Given the description of an element on the screen output the (x, y) to click on. 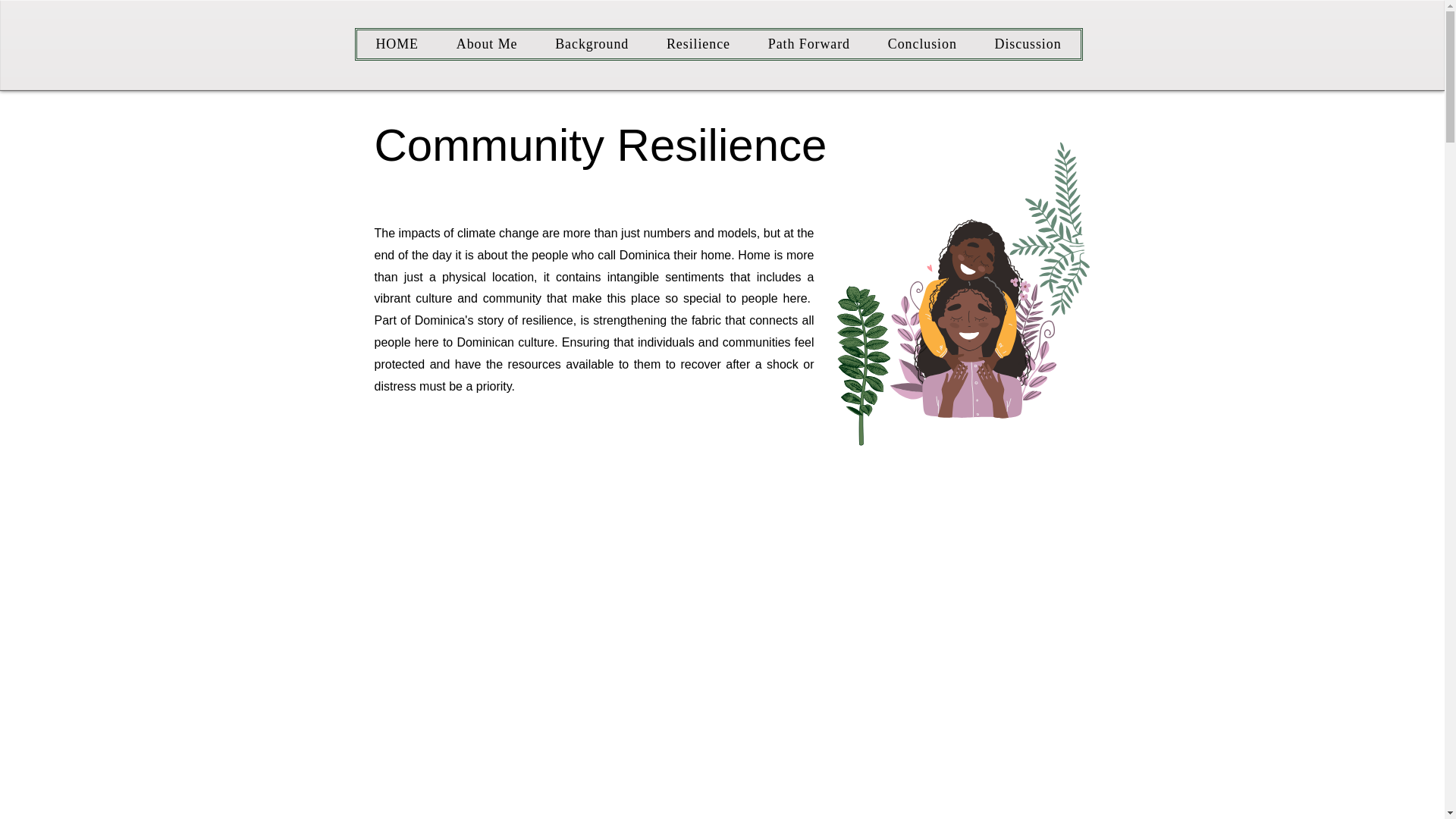
HOME (396, 44)
Discussion (1027, 44)
Conclusion (922, 44)
About Me (486, 44)
